Given the description of an element on the screen output the (x, y) to click on. 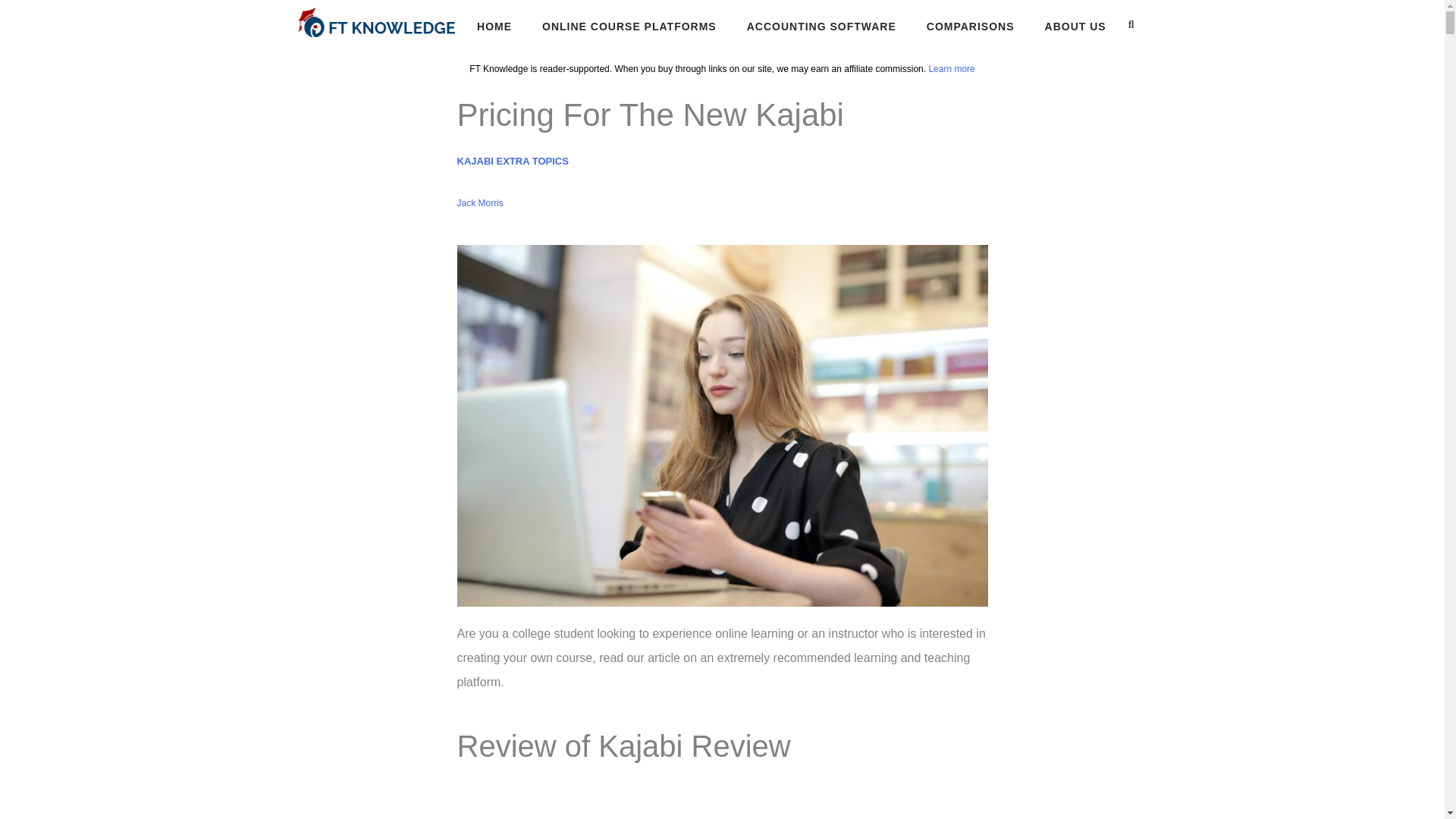
COMPARISONS (970, 26)
Jack Morris (479, 202)
ABOUT US (1075, 26)
KAJABI EXTRA TOPICS (512, 161)
ONLINE COURSE PLATFORMS (628, 26)
HOME (494, 26)
ACCOUNTING SOFTWARE (821, 26)
Learn more (951, 68)
